Given the description of an element on the screen output the (x, y) to click on. 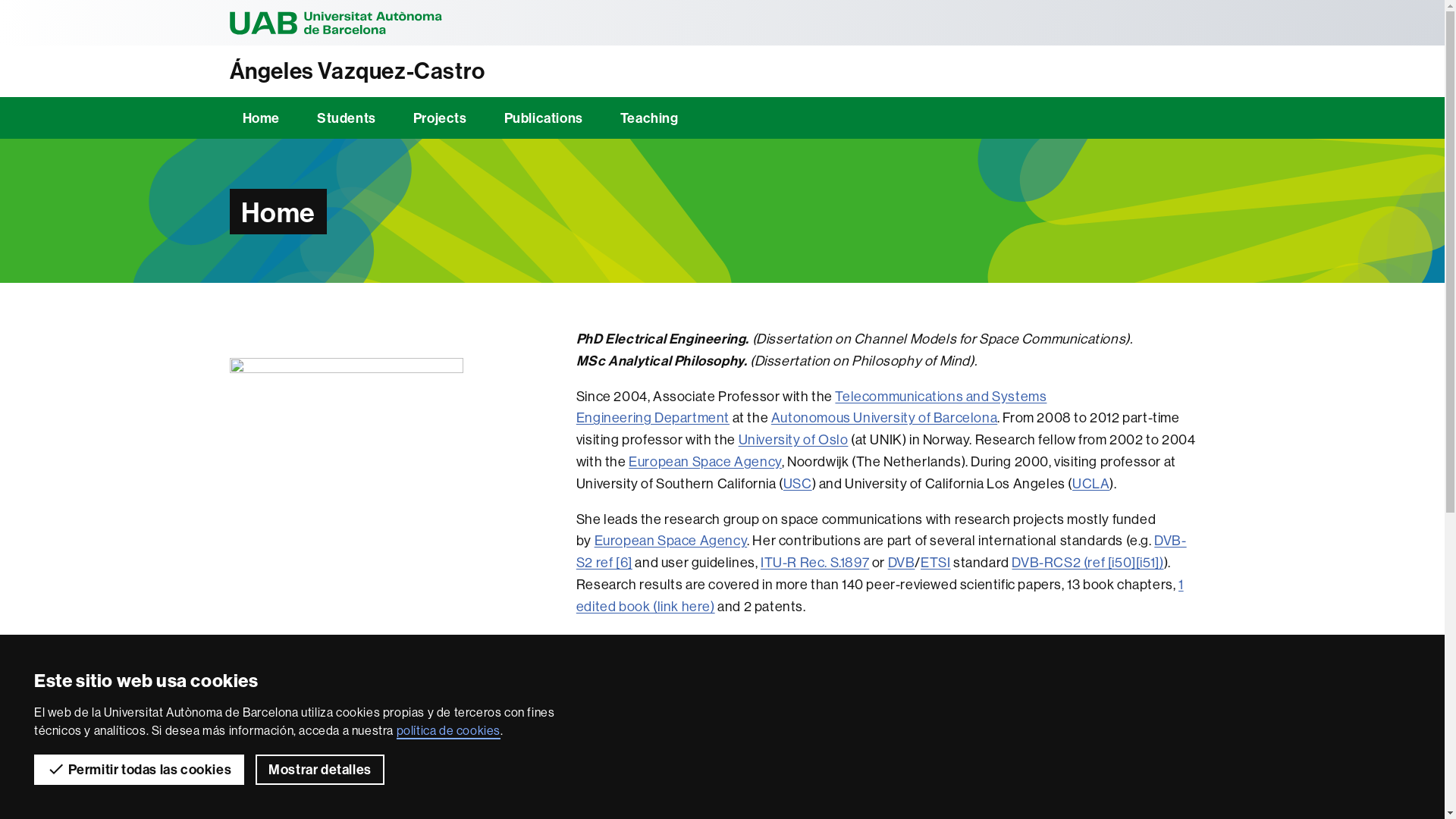
1 edited book (link here) Element type: text (879, 595)
Projects Element type: text (440, 117)
USC Element type: text (797, 483)
Aerospace and Electronic Systems Element type: text (881, 709)
Home Element type: text (260, 117)
Information Theory  Element type: text (1004, 698)
Students Element type: text (346, 117)
ETSI Element type: text (935, 562)
Permitir todas las cookies Element type: text (139, 769)
Telecommunications and Systems Engineering Department Element type: text (811, 406)
UCLA Element type: text (1090, 483)
European Space Agency, Element type: text (1042, 720)
European Space Agency Element type: text (670, 540)
European Space Agency Element type: text (704, 461)
DVB Element type: text (901, 562)
IEEE societies of Communications Element type: text (832, 698)
Teaching Element type: text (649, 117)
Rec. S.1897 Element type: text (834, 562)
European network of experts in Satellite Communications. Element type: text (891, 652)
DVB-S2 ref [6] Element type: text (881, 551)
University of Oslo Element type: text (793, 439)
Publications Element type: text (543, 117)
DVB-RCS2 (ref [i50][i51]) Element type: text (1087, 562)
ITU-R  Element type: text (780, 562)
Mostrar detalles Element type: text (319, 769)
Autonomous University of Barcelona Element type: text (884, 417)
